Given the description of an element on the screen output the (x, y) to click on. 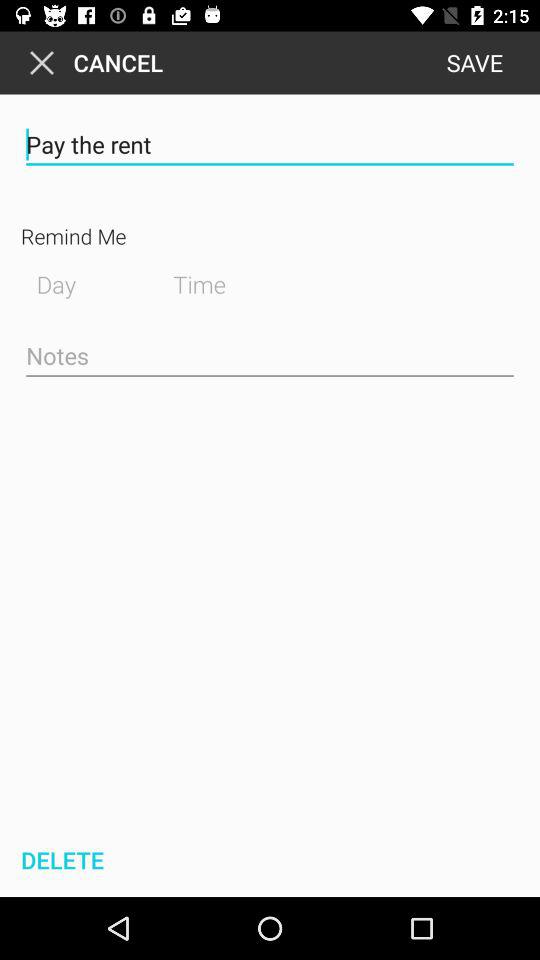
add notes (270, 357)
